Given the description of an element on the screen output the (x, y) to click on. 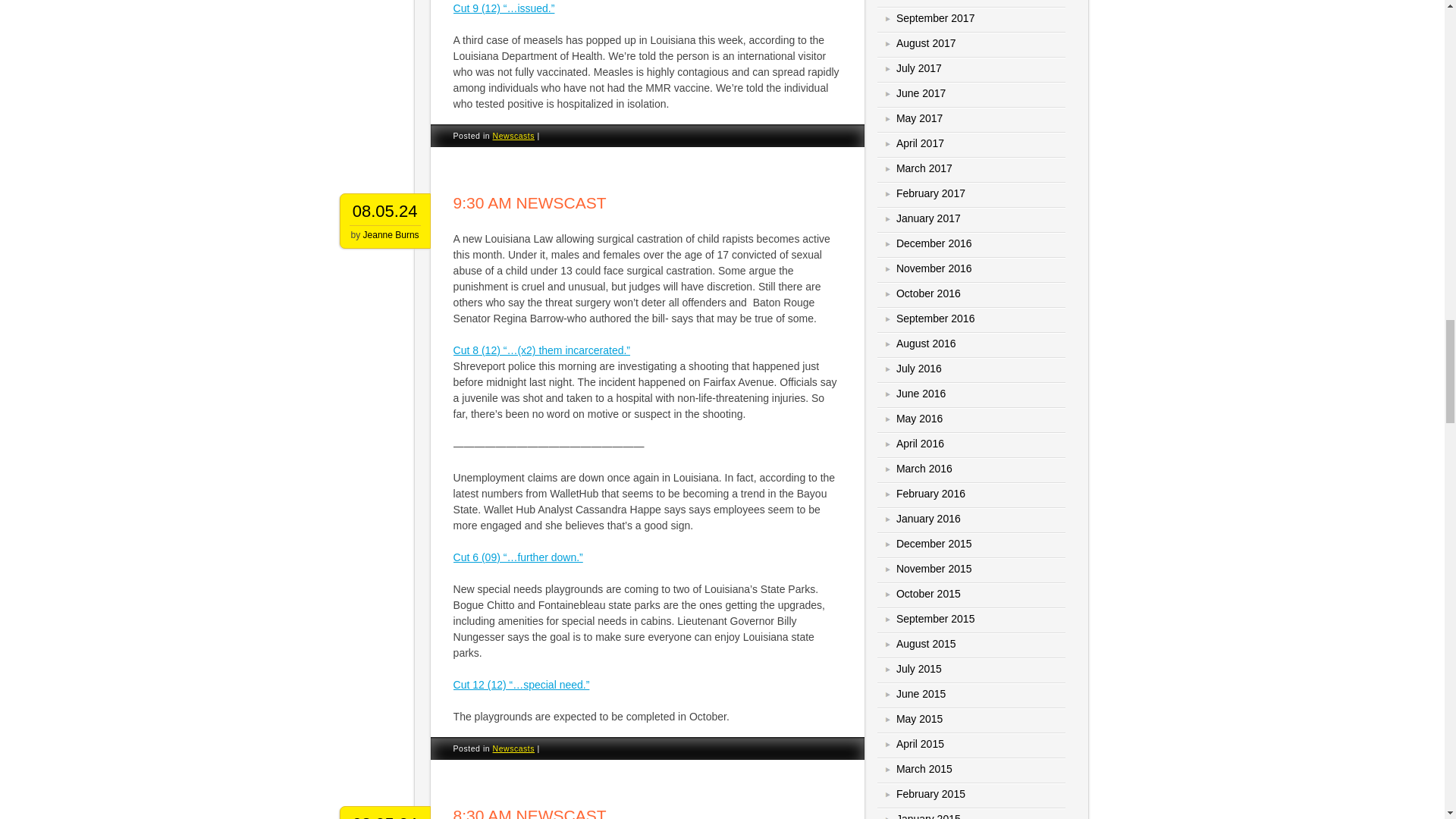
View all posts in Newscasts (514, 135)
Newscasts (514, 135)
View all posts by Jeanne Burns (390, 235)
